Given the description of an element on the screen output the (x, y) to click on. 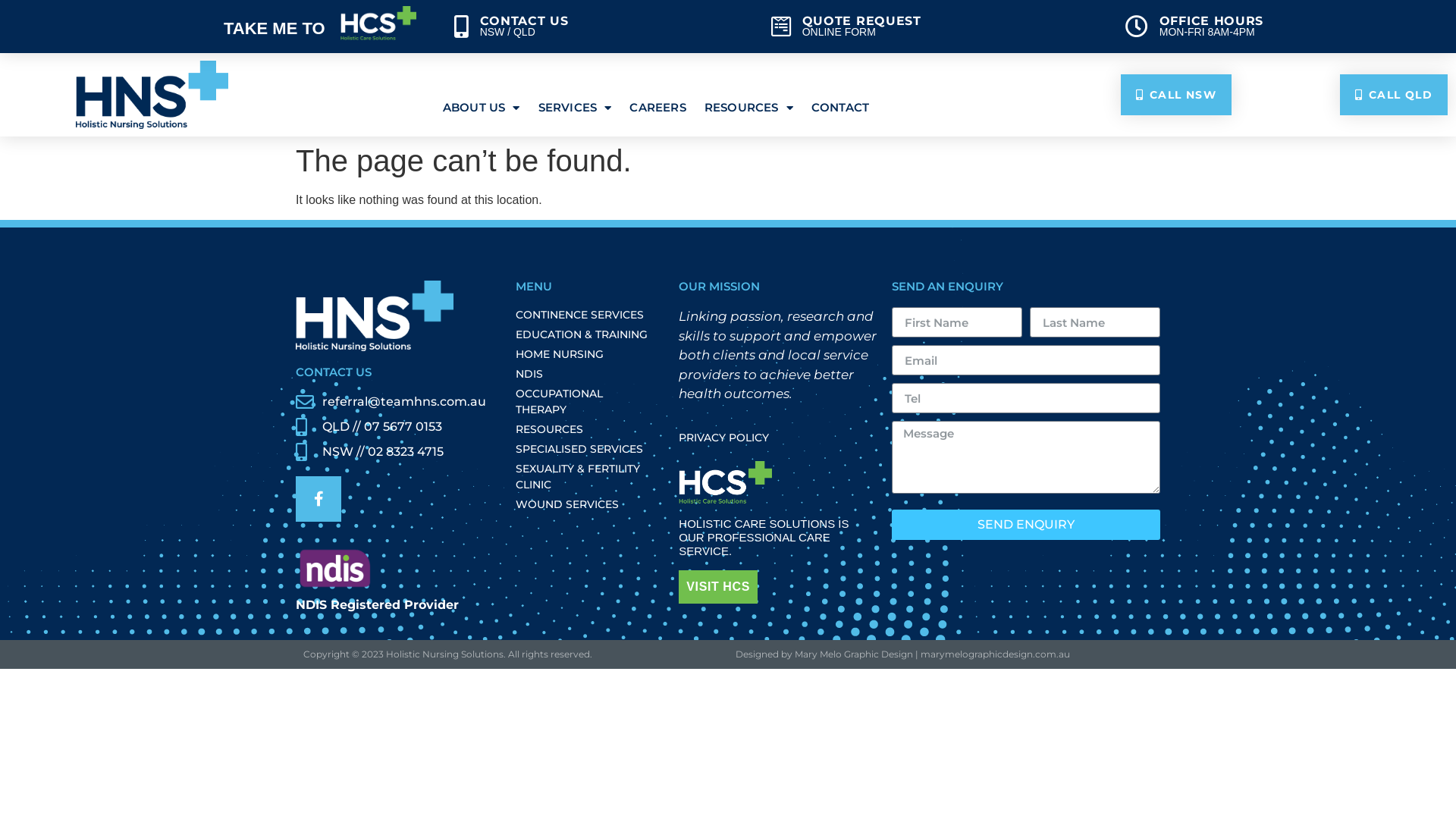
PRIVACY POLICY Element type: text (777, 437)
referral@teamhns.com.au Element type: text (393, 401)
RESOURCES Element type: text (585, 429)
SEXUALITY & FERTILITY CLINIC Element type: text (585, 476)
QUOTE REQUEST
ONLINE FORM Element type: text (940, 26)
OFFICE HOURS
MON-FRI 8AM-4PM Element type: text (1282, 26)
NSW // 02 8323 4715 Element type: text (393, 451)
RESOURCES Element type: text (748, 107)
CONTACT US
NSW / QLD Element type: text (605, 26)
SEND ENQUIRY Element type: text (1025, 524)
CALL NSW Element type: text (1176, 94)
VISIT HCS Element type: text (717, 586)
CONTACT Element type: text (840, 107)
WOUND SERVICES Element type: text (585, 504)
CALL QLD Element type: text (1393, 94)
CONTINENCE SERVICES Element type: text (585, 315)
OCCUPATIONAL THERAPY Element type: text (585, 401)
EDUCATION & TRAINING Element type: text (585, 334)
TAKE ME TO Element type: text (208, 26)
SERVICES Element type: text (575, 107)
SPECIALISED SERVICES Element type: text (585, 449)
QLD // 07 5677 0153 Element type: text (393, 426)
CONTACT US Element type: text (333, 371)
CAREERS Element type: text (657, 107)
ABOUT US Element type: text (481, 107)
HOME NURSING Element type: text (585, 354)
NDIS Element type: text (585, 374)
